Given the description of an element on the screen output the (x, y) to click on. 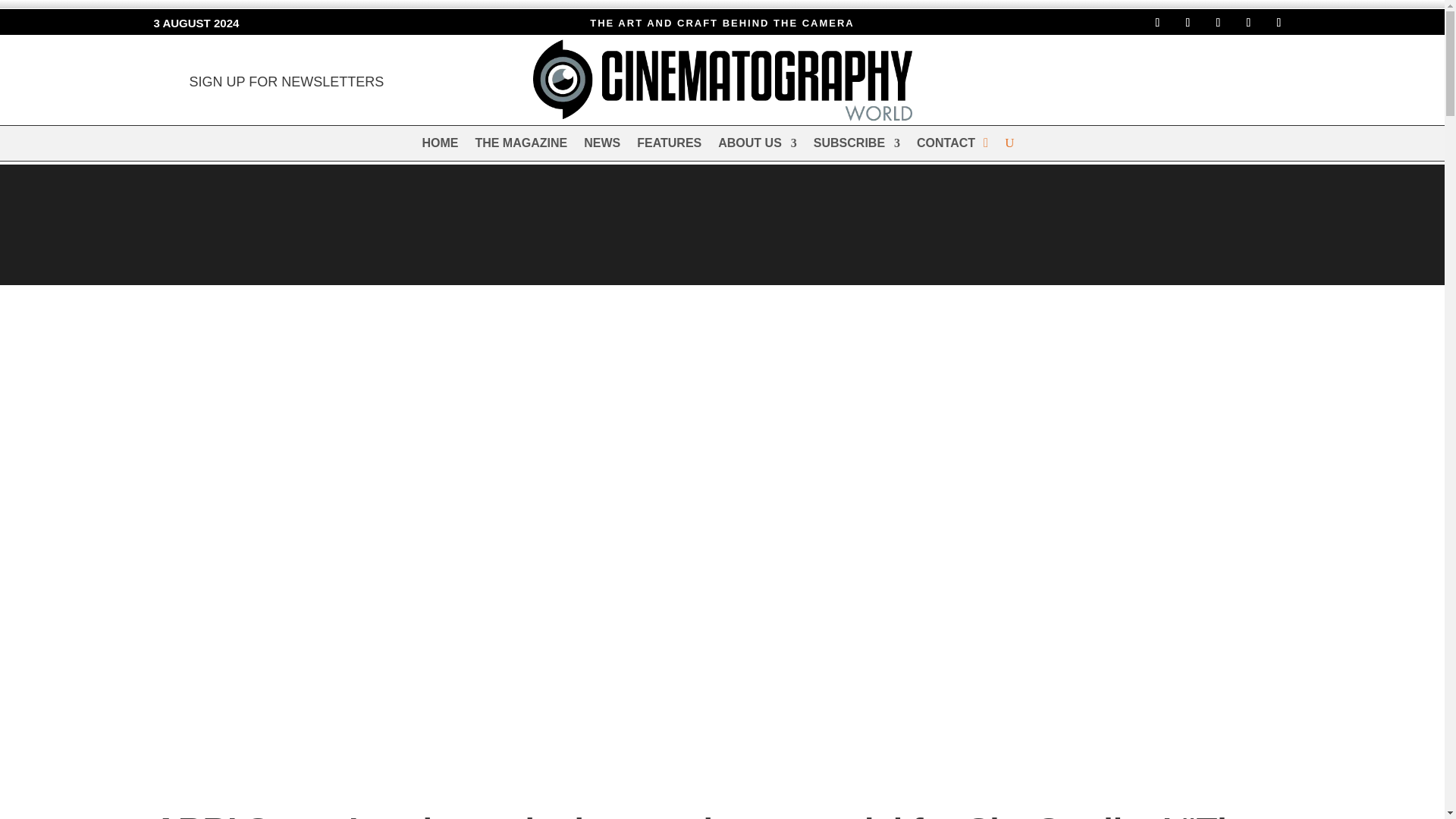
Follow on Instagram (1186, 22)
HOME (440, 146)
SUBSCRIBE (856, 146)
THE MAGAZINE (520, 146)
CW-masthead (721, 80)
Follow on X (1217, 22)
Follow on LinkedIn (1248, 22)
Follow on Youtube (1278, 22)
NEWS (601, 146)
CONTACT (946, 146)
FEATURES (669, 146)
Follow on Facebook (1156, 22)
ABOUT US (756, 146)
